Given the description of an element on the screen output the (x, y) to click on. 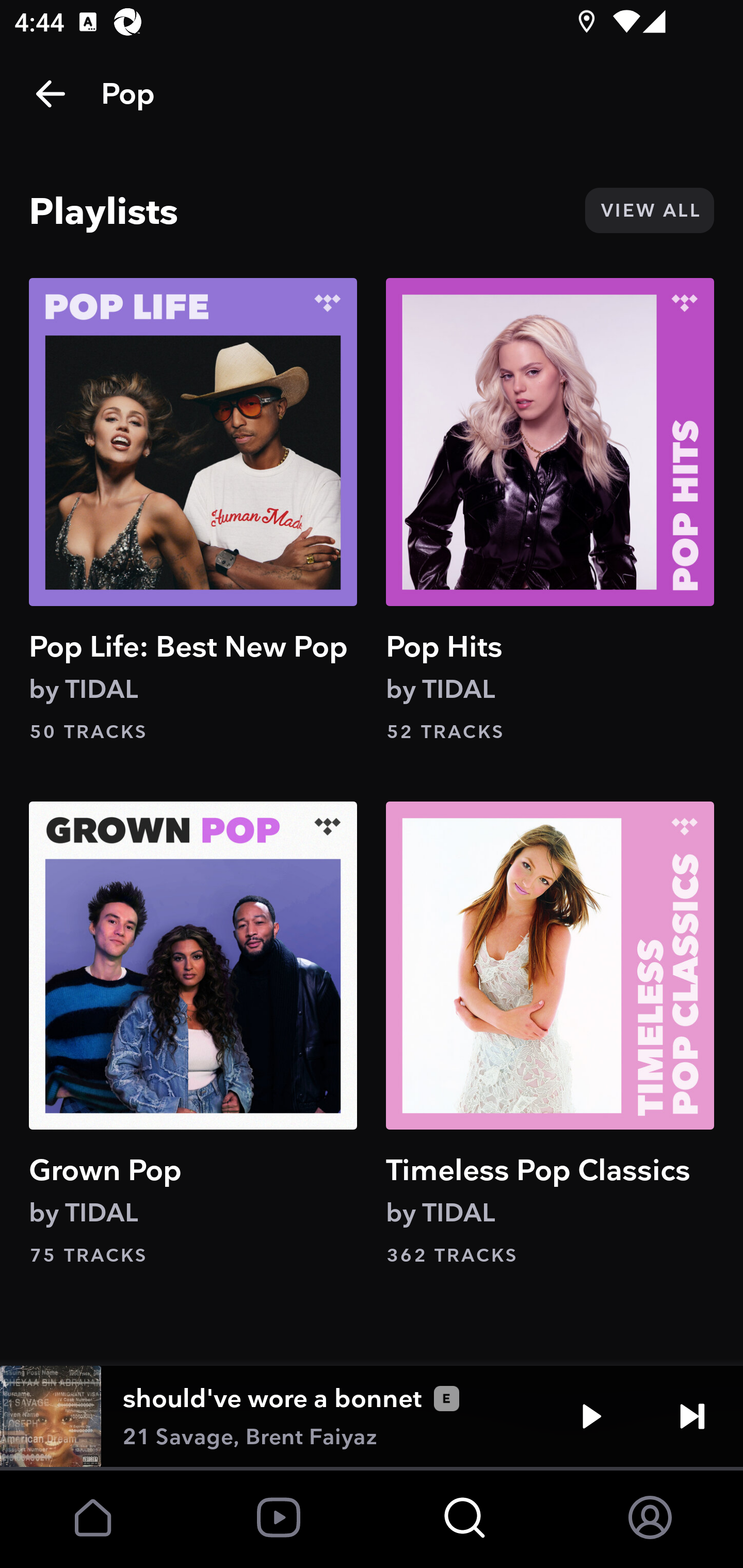
VIEW ALL (649, 210)
Pop Life: Best New Pop by TIDAL 50 TRACKS (192, 510)
Pop Hits by TIDAL 52 TRACKS (549, 510)
Grown Pop by TIDAL 75 TRACKS (192, 1033)
Timeless Pop Classics by TIDAL 362 TRACKS (549, 1033)
Play (590, 1416)
